Given the description of an element on the screen output the (x, y) to click on. 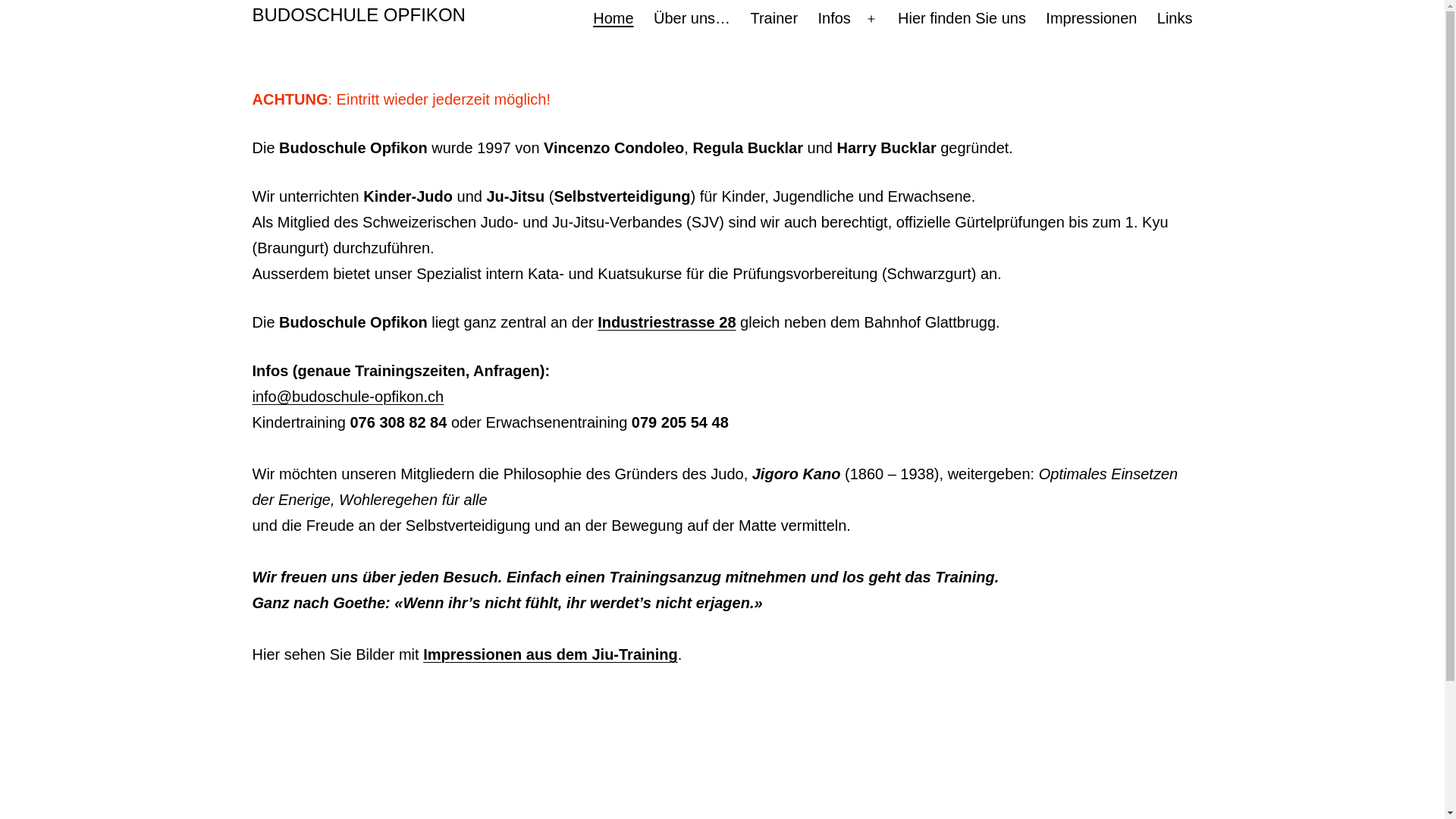
Impressionen aus dem Jiu-Training Element type: text (550, 654)
Open menu Element type: text (871, 18)
Infos Element type: text (833, 18)
Links Element type: text (1174, 18)
Hier finden Sie uns Element type: text (961, 18)
Impressionen Element type: text (1090, 18)
info@budoschule-opfikon.ch Element type: text (347, 396)
Industriestrasse 28 Element type: text (666, 323)
Home Element type: text (613, 18)
Trainer Element type: text (773, 18)
